Given the description of an element on the screen output the (x, y) to click on. 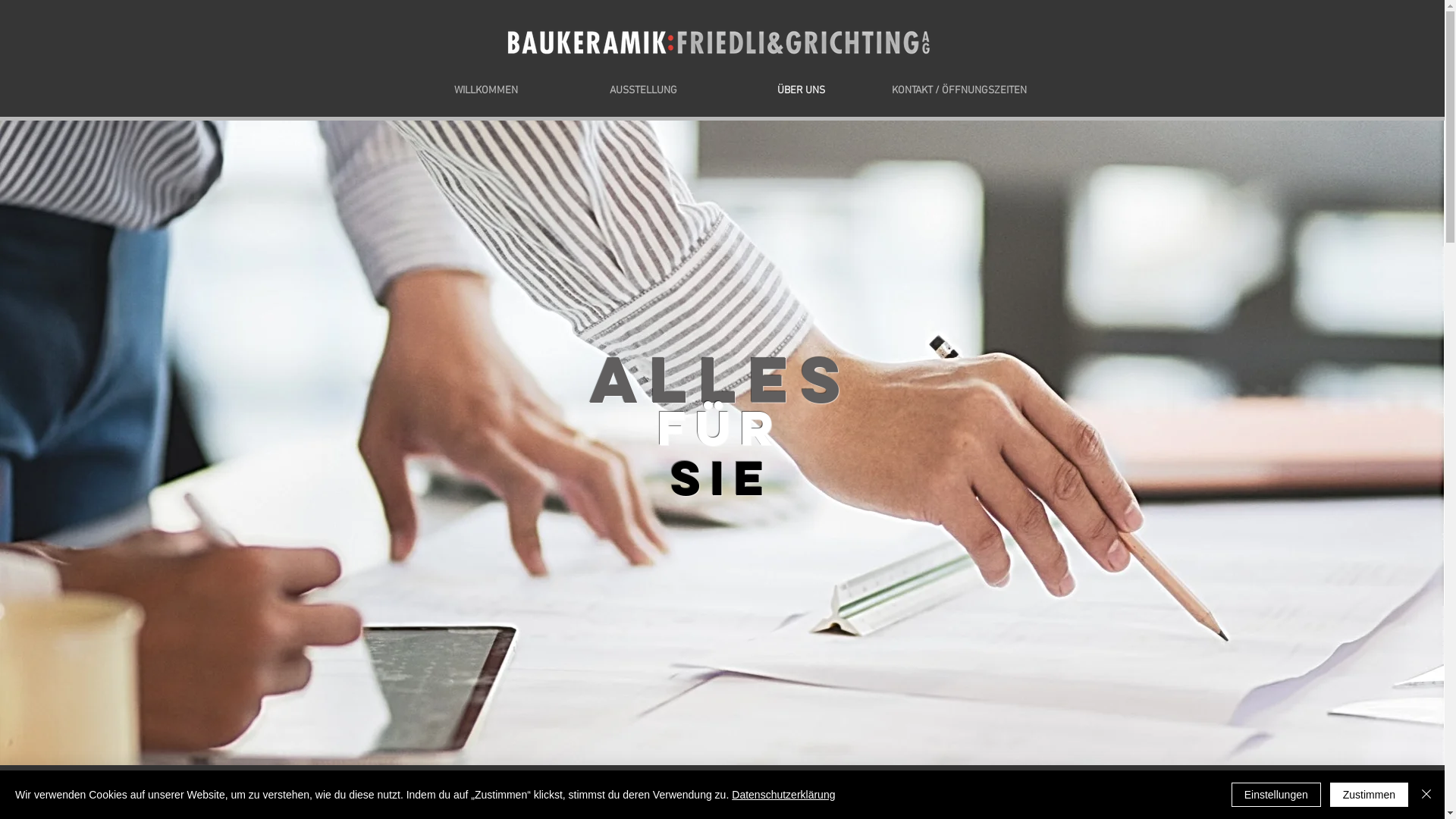
WILLKOMMEN Element type: text (485, 90)
Einstellungen Element type: text (1276, 794)
Zustimmen Element type: text (1369, 794)
AUSSTELLUNG Element type: text (642, 90)
